Given the description of an element on the screen output the (x, y) to click on. 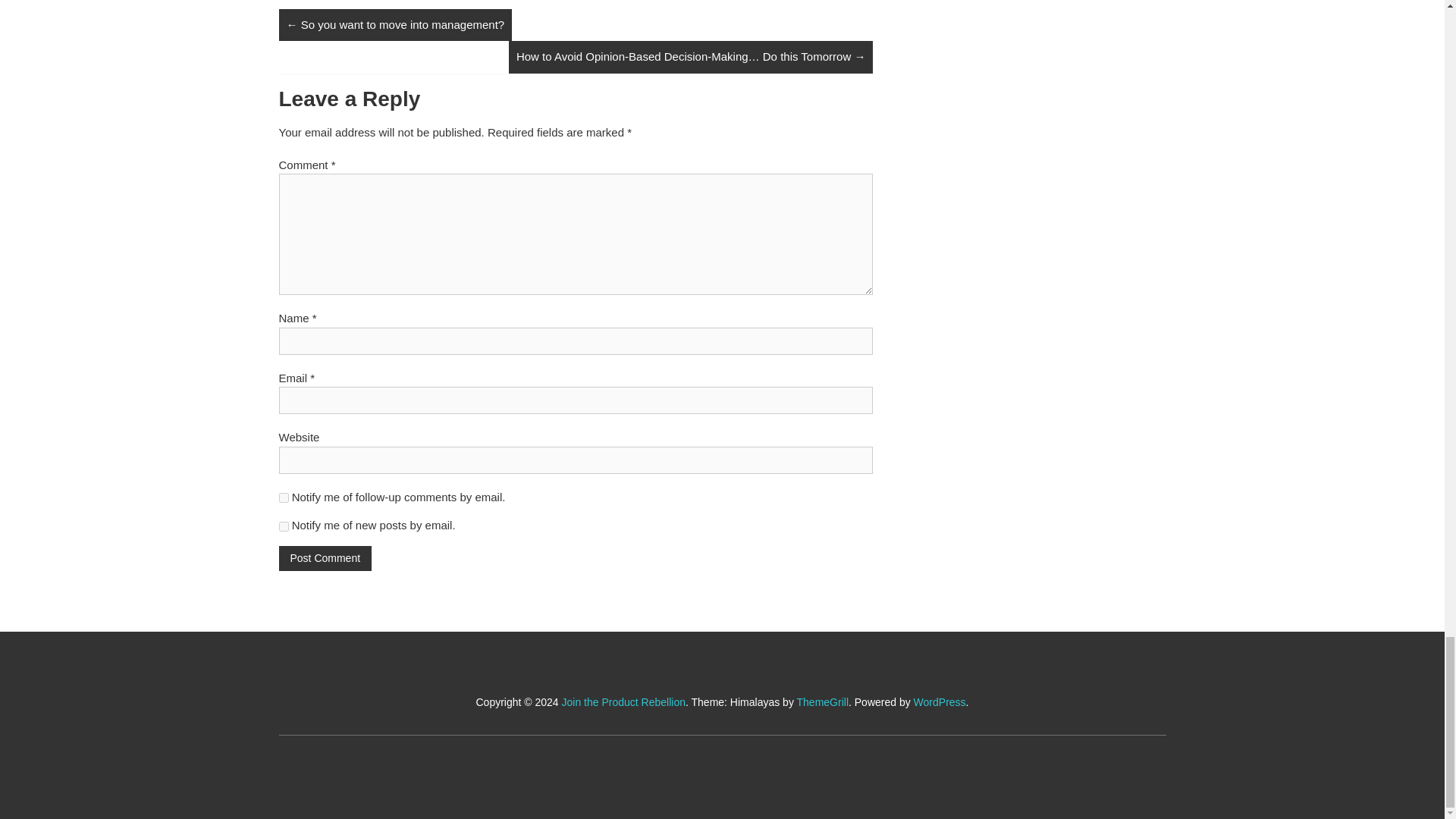
Join the Product Rebellion (623, 702)
WordPress (940, 702)
Join the Product Rebellion (623, 702)
WordPress (940, 702)
Post Comment (325, 558)
subscribe (283, 497)
subscribe (283, 526)
ThemeGrill (822, 702)
Post Comment (325, 558)
ThemeGrill (822, 702)
